Given the description of an element on the screen output the (x, y) to click on. 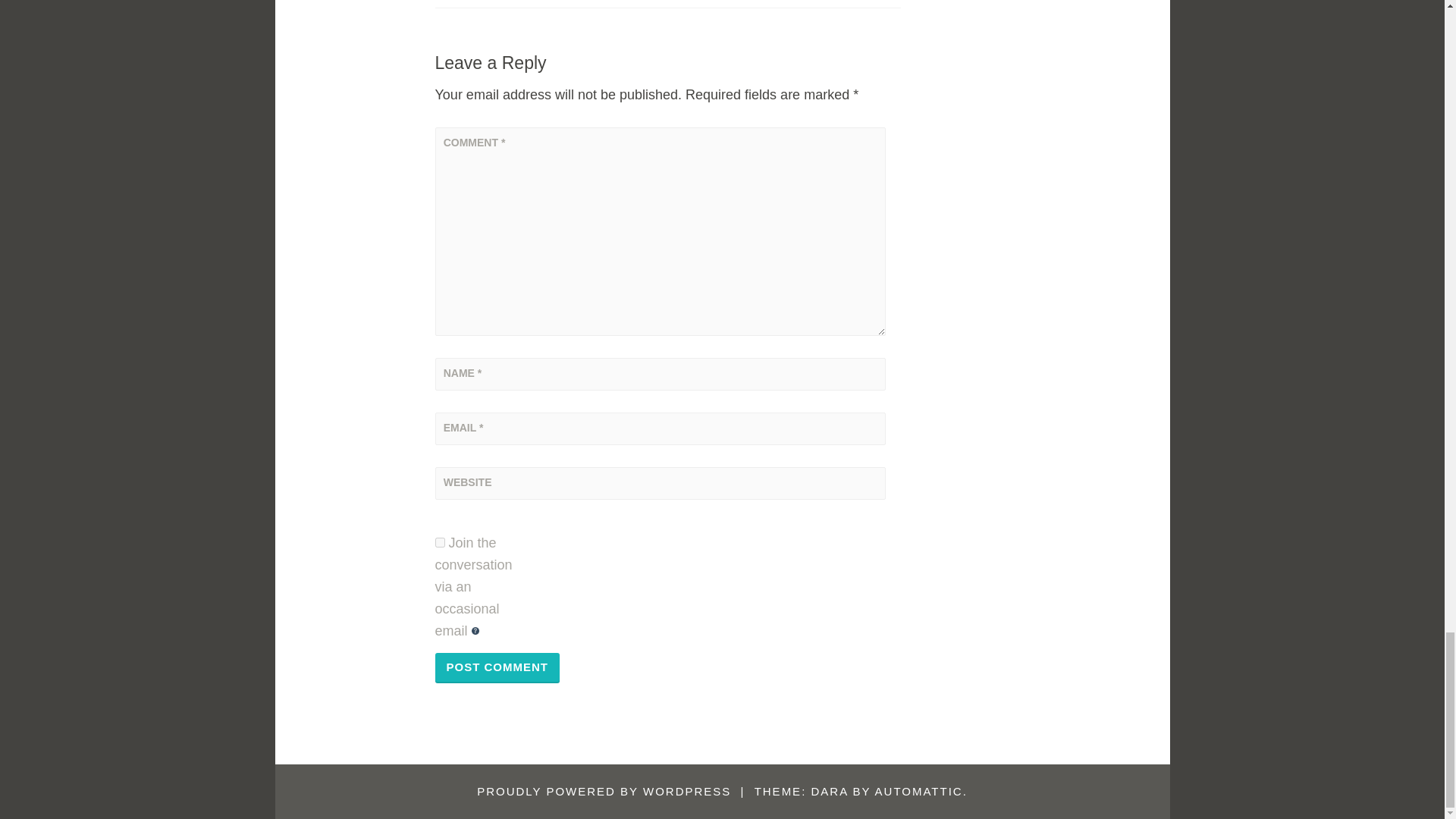
Post Comment (497, 667)
1 (440, 542)
Post Comment (497, 667)
